Given the description of an element on the screen output the (x, y) to click on. 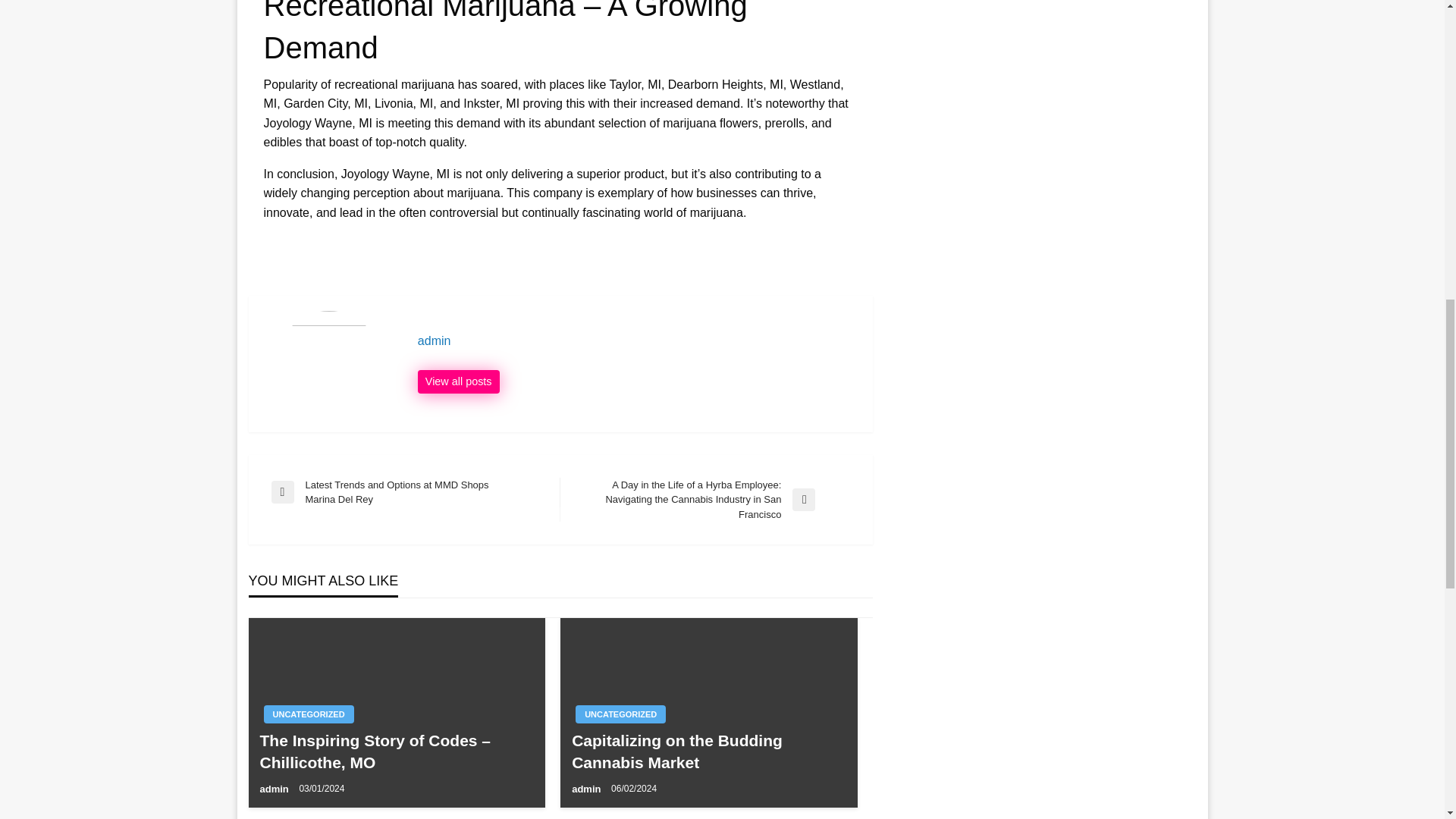
View all posts (458, 381)
Capitalizing on the Budding Cannabis Market (708, 751)
admin (637, 340)
admin (275, 788)
UNCATEGORIZED (308, 714)
UNCATEGORIZED (620, 714)
admin (637, 340)
admin (458, 381)
admin (588, 788)
